Given the description of an element on the screen output the (x, y) to click on. 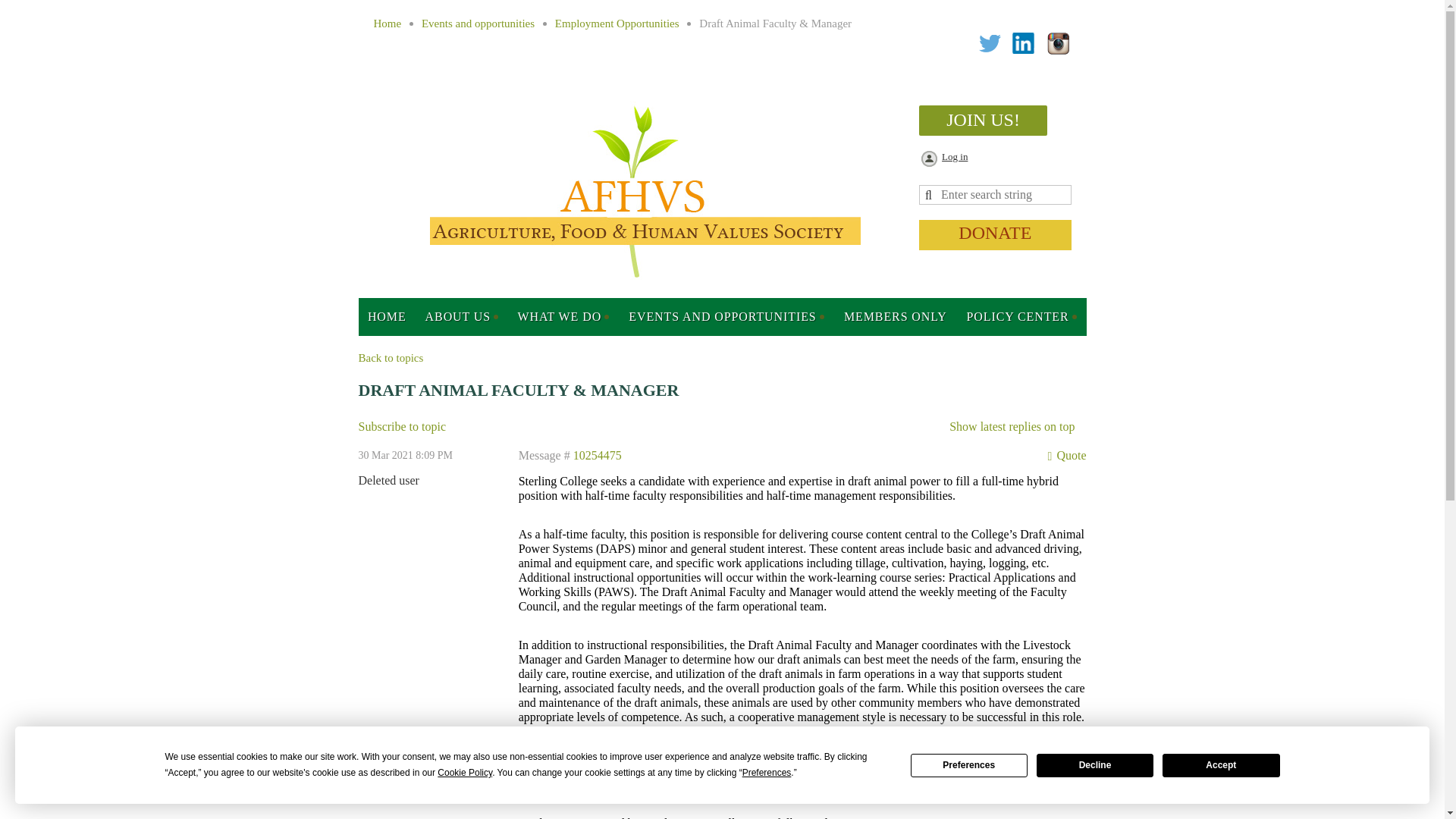
EVENTS AND OPPORTUNITIES (726, 316)
Home (386, 23)
WHAT WE DO (563, 316)
DONATE (994, 235)
JOIN US! (982, 120)
Instagram (1058, 44)
What we do (563, 316)
Home (386, 316)
LinkedIn (1023, 44)
Log in (943, 159)
